Given the description of an element on the screen output the (x, y) to click on. 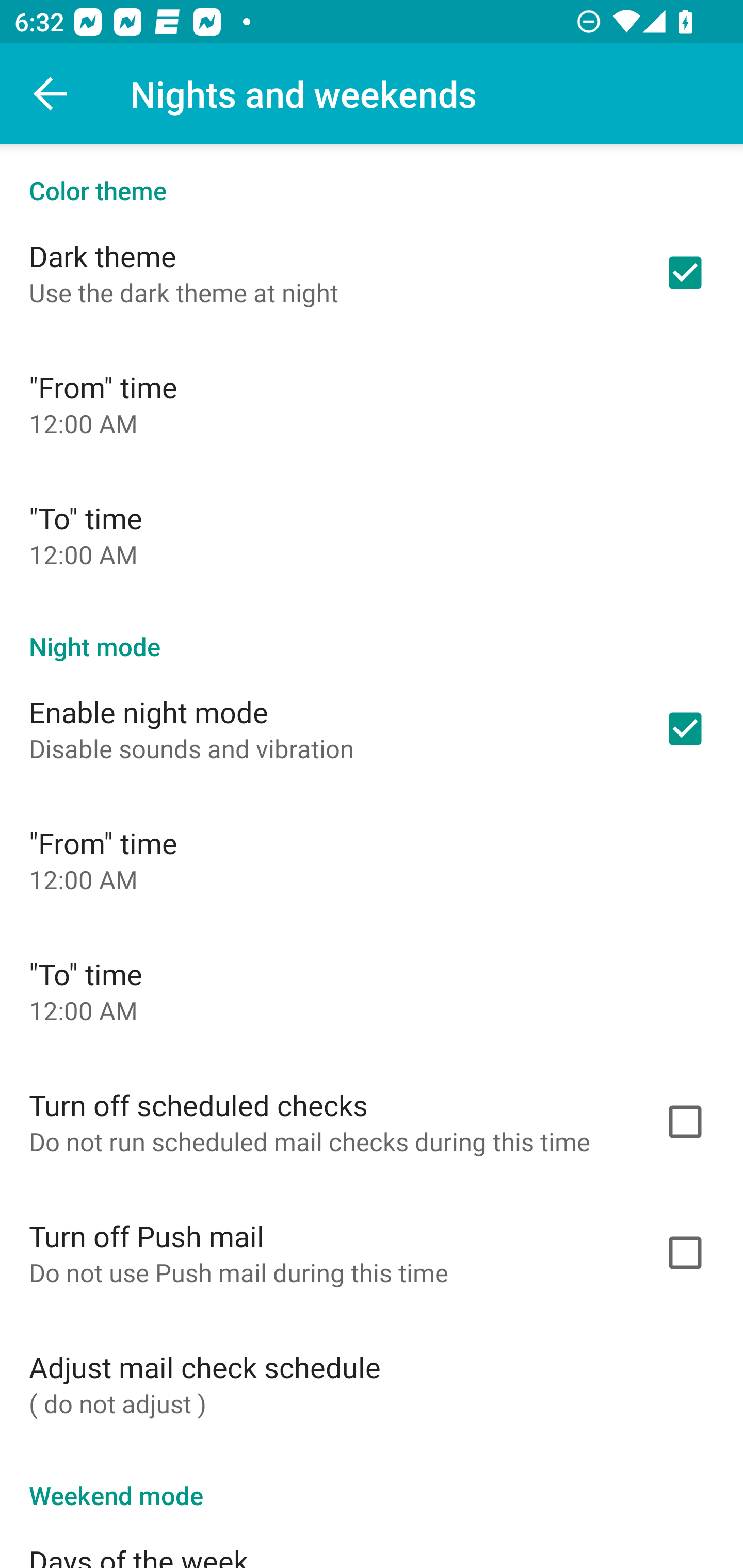
Navigate up (50, 93)
Dark theme Use the dark theme at night (371, 272)
"From" time 12:00 AM (371, 403)
"To" time 12:00 AM (371, 534)
Enable night mode Disable sounds and vibration (371, 728)
"From" time 12:00 AM (371, 859)
"To" time 12:00 AM (371, 990)
Adjust mail check schedule ( do not adjust ) (371, 1383)
